Given the description of an element on the screen output the (x, y) to click on. 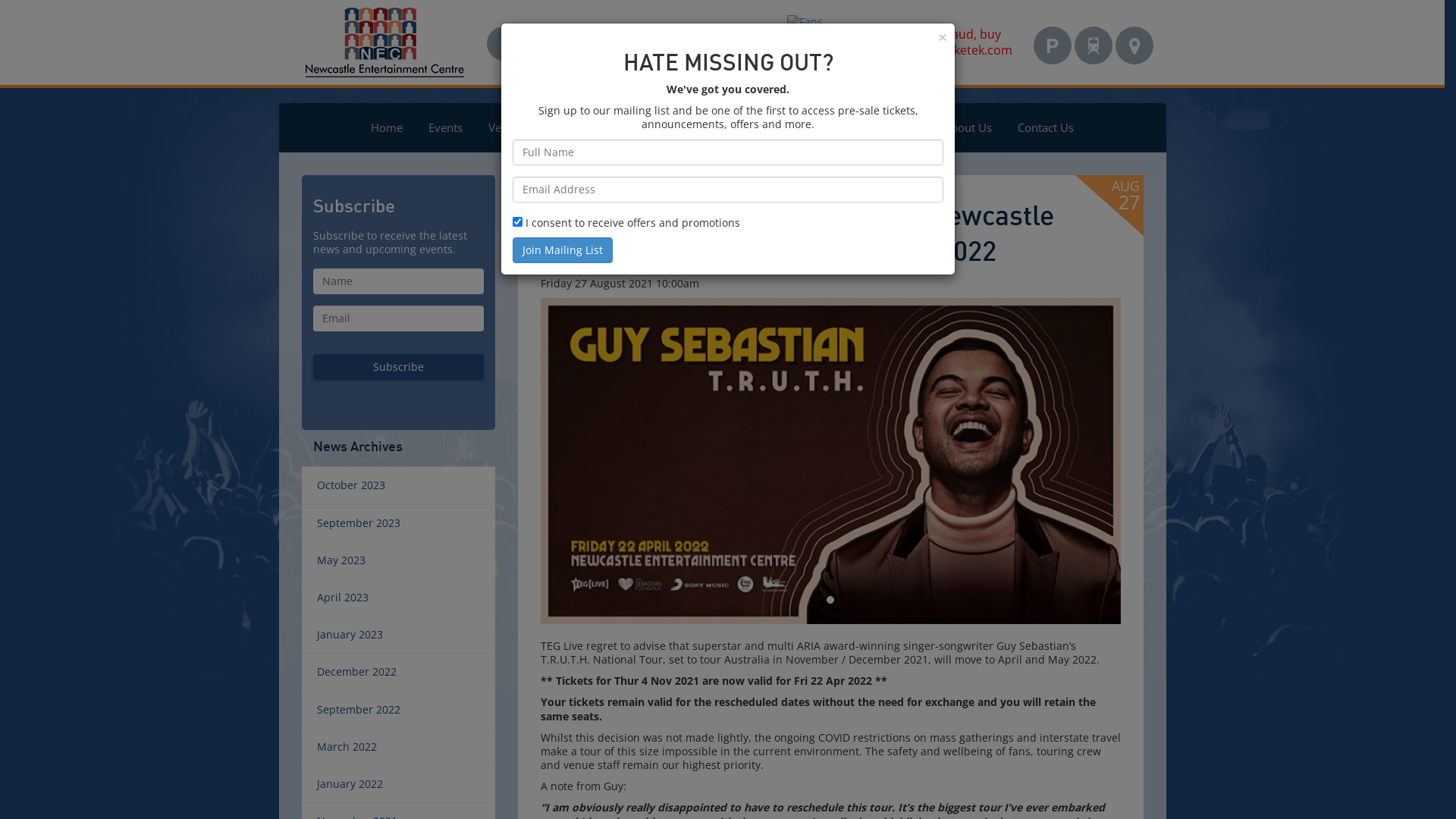
Events Element type: text (445, 127)
Facebook Element type: hover (503, 43)
Newcastle Entertainment Centre Element type: hover (383, 42)
Parking Element type: hover (1051, 45)
Youtube Element type: hover (614, 43)
Showground Exhibition Centre Element type: text (691, 127)
Showground Element type: text (830, 127)
Subscribe Element type: text (397, 366)
Transport Element type: hover (1092, 45)
September 2022 Element type: text (398, 709)
March 2022 Element type: text (398, 746)
April 2023 Element type: text (398, 597)
1 Element type: text (830, 599)
Home Element type: text (386, 127)
January 2023 Element type: text (398, 634)
Venue Information Element type: text (536, 127)
May 2023 Element type: text (398, 560)
Instagram Element type: hover (578, 43)
October 2023 Element type: text (398, 485)
September 2023 Element type: text (398, 523)
Twitter Element type: hover (540, 43)
News Element type: text (903, 127)
Map Element type: hover (1133, 45)
About Us Element type: text (967, 127)
January 2022 Element type: text (398, 783)
Contact Us Element type: text (1045, 127)
December 2022 Element type: text (398, 671)
Warning: To avoid fraud, buy tickets ONLY from Ticketek.com Element type: text (900, 36)
Join Mailing List Element type: text (562, 250)
true Element type: text (517, 221)
